Given the description of an element on the screen output the (x, y) to click on. 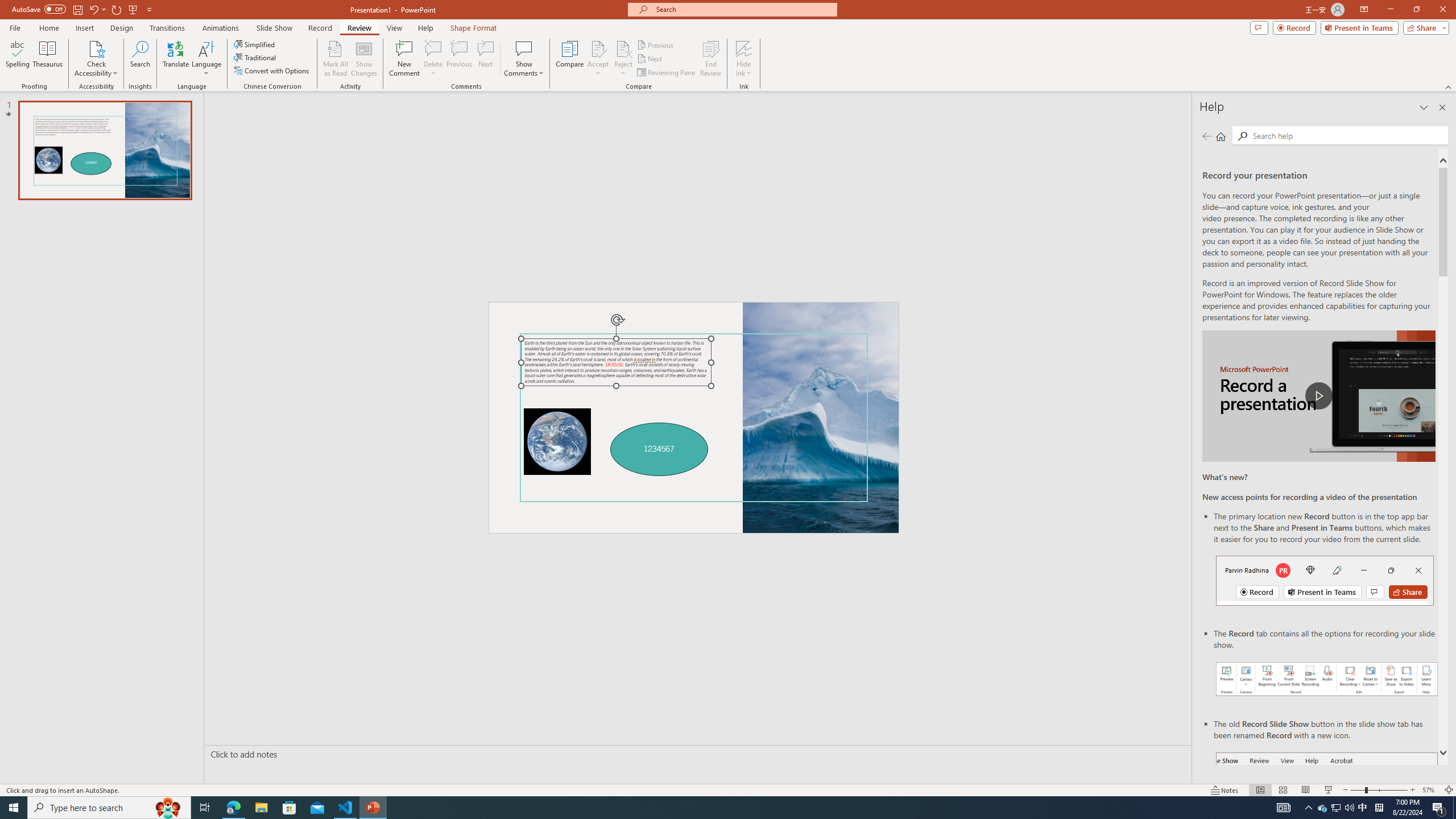
Hide Ink (743, 58)
Compare (569, 58)
Show Comments (524, 48)
Reviewing Pane (666, 72)
